Given the description of an element on the screen output the (x, y) to click on. 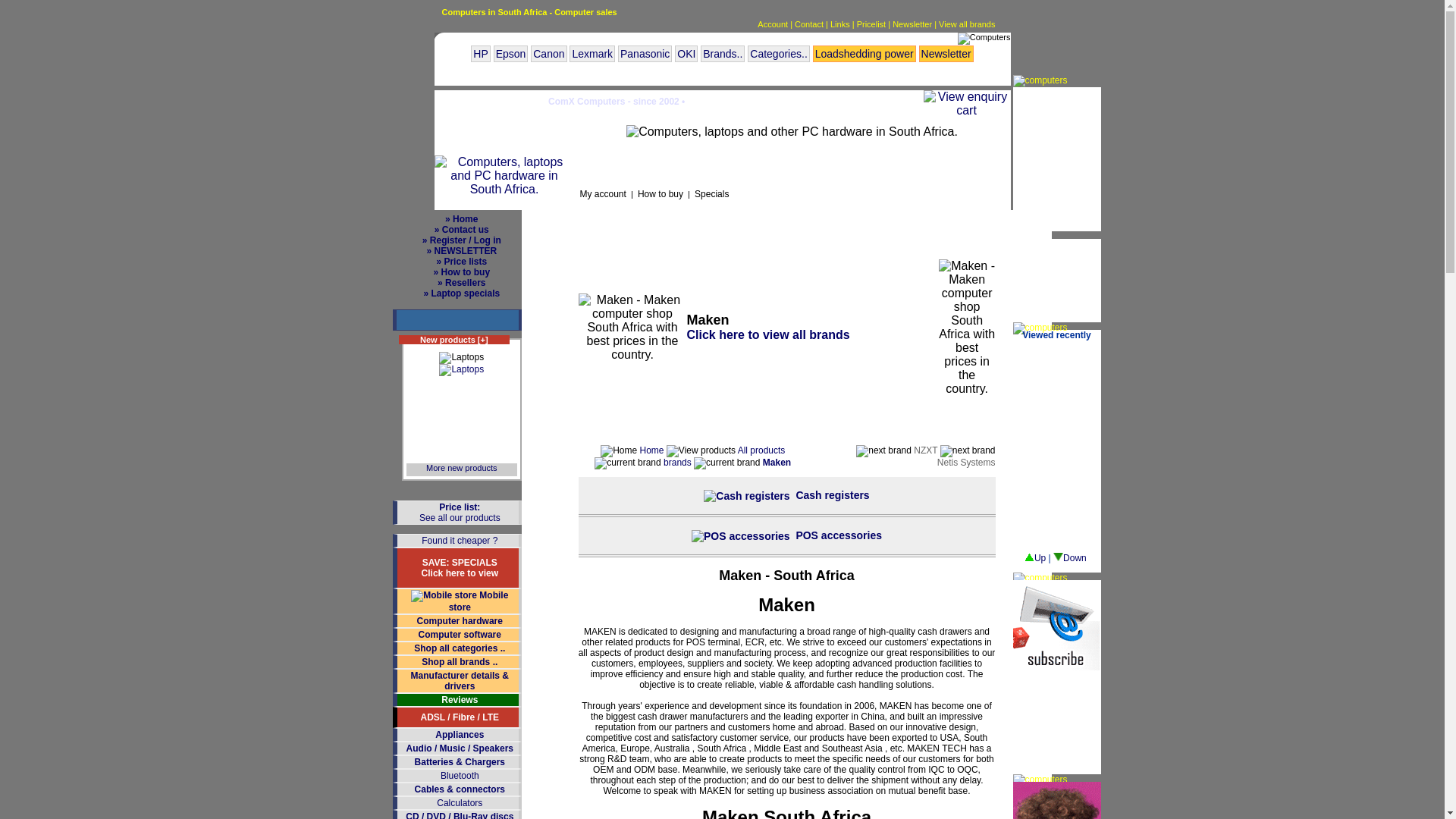
Lexmark (591, 53)
Epson (510, 53)
Calculators (458, 802)
Newsletter (911, 23)
View all brands (966, 23)
OKI (686, 53)
Newsletter (946, 53)
Up (1035, 557)
Contact (809, 23)
Down (1069, 557)
